Given the description of an element on the screen output the (x, y) to click on. 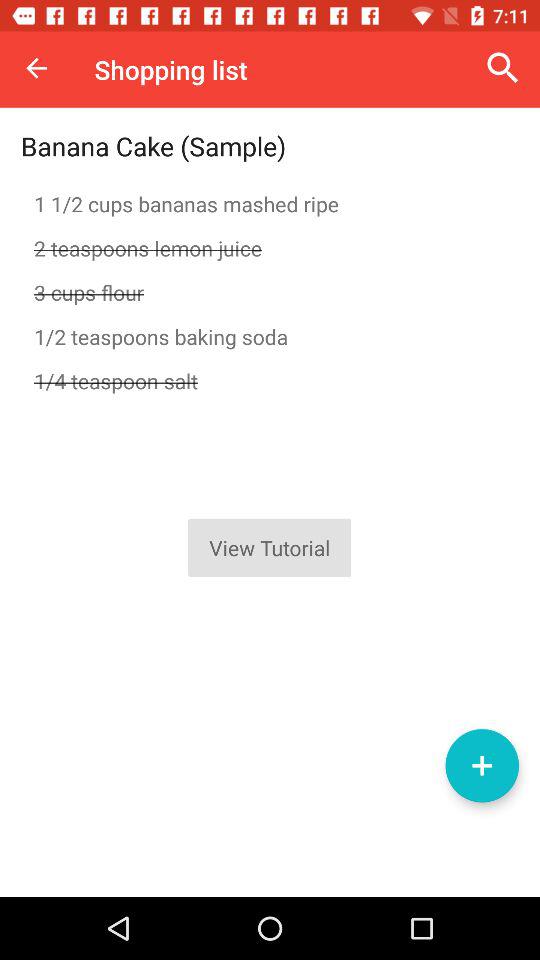
add new item (482, 765)
